Given the description of an element on the screen output the (x, y) to click on. 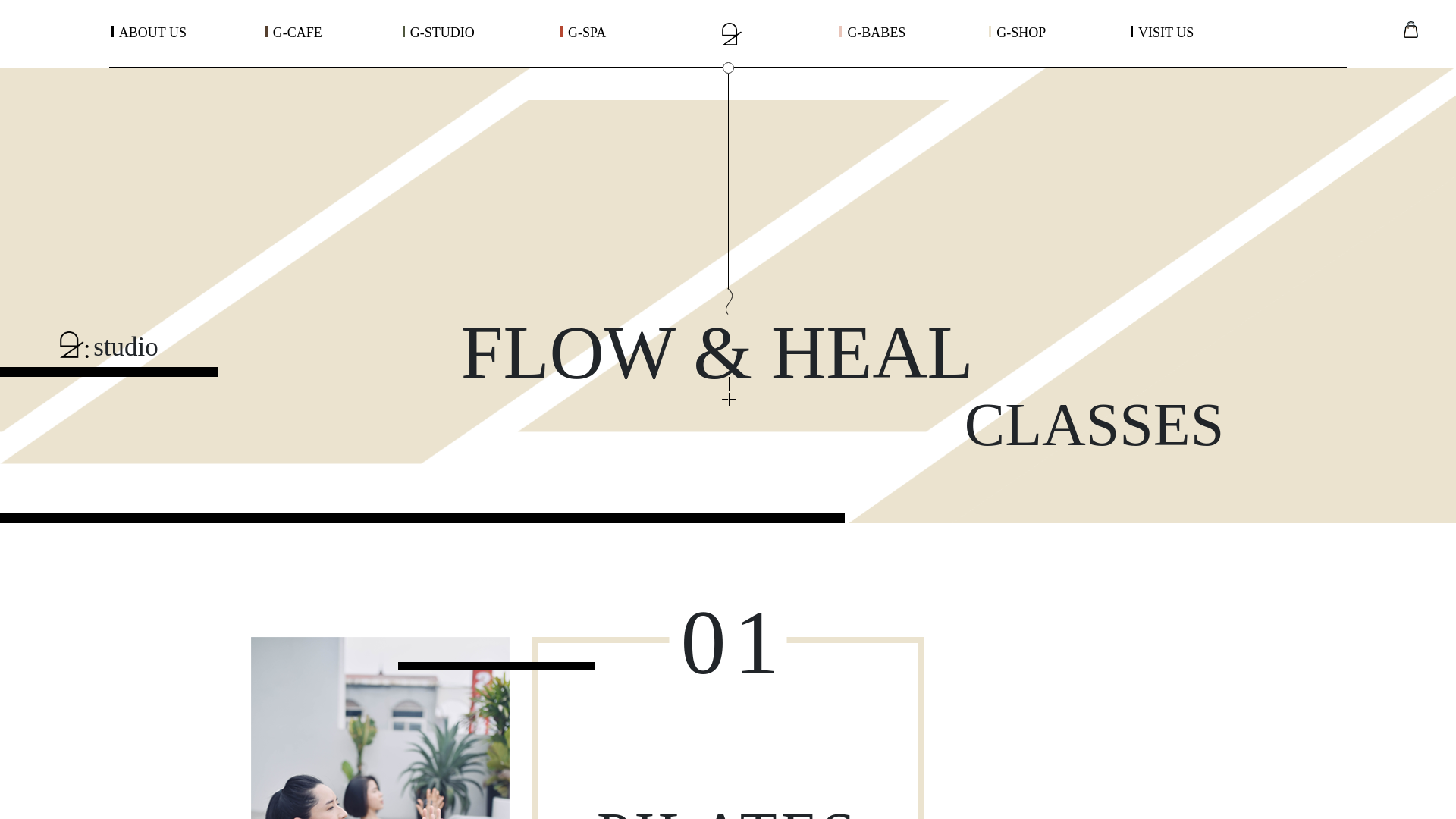
G-SPA (586, 32)
G-CAFE (297, 32)
G-SHOP (1020, 32)
ABOUT US (152, 32)
G-BABES (876, 32)
G-STUDIO (442, 32)
VISIT US (1165, 32)
